Given the description of an element on the screen output the (x, y) to click on. 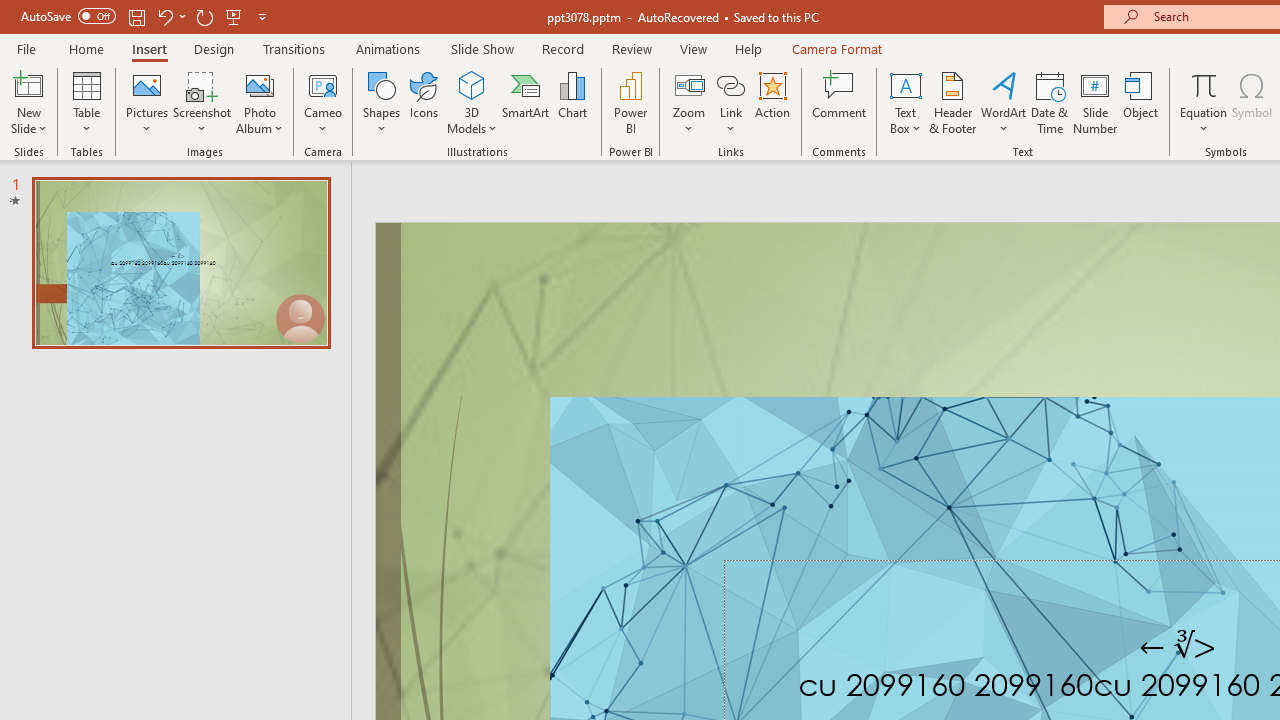
Table (86, 102)
Draw Horizontal Text Box (905, 84)
TextBox 7 (1178, 646)
Power BI (630, 102)
Chart... (572, 102)
Symbol... (1252, 102)
